Given the description of an element on the screen output the (x, y) to click on. 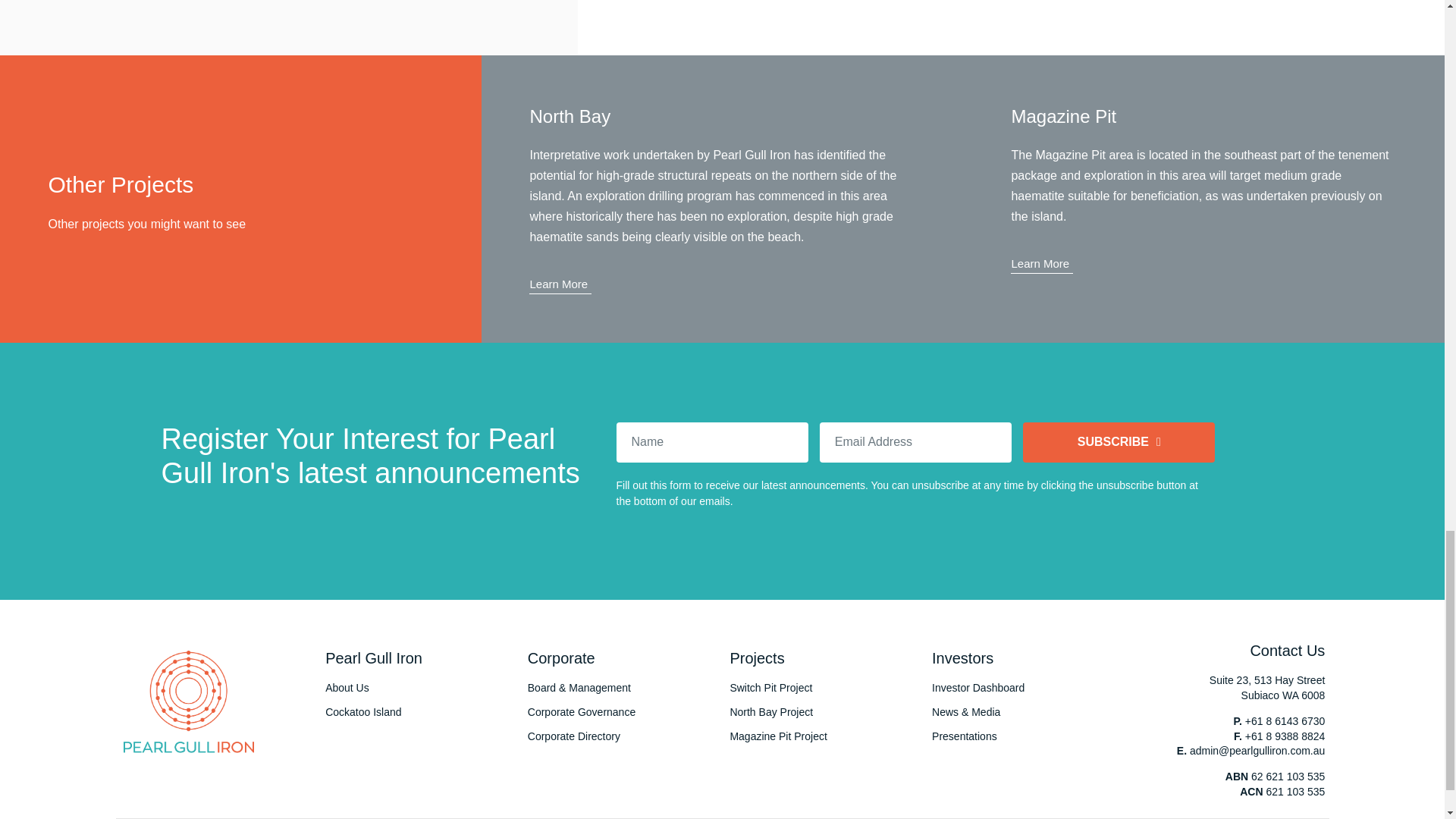
Learn More (560, 286)
SUBSCRIBE (1118, 442)
Learn More (1041, 265)
